Given the description of an element on the screen output the (x, y) to click on. 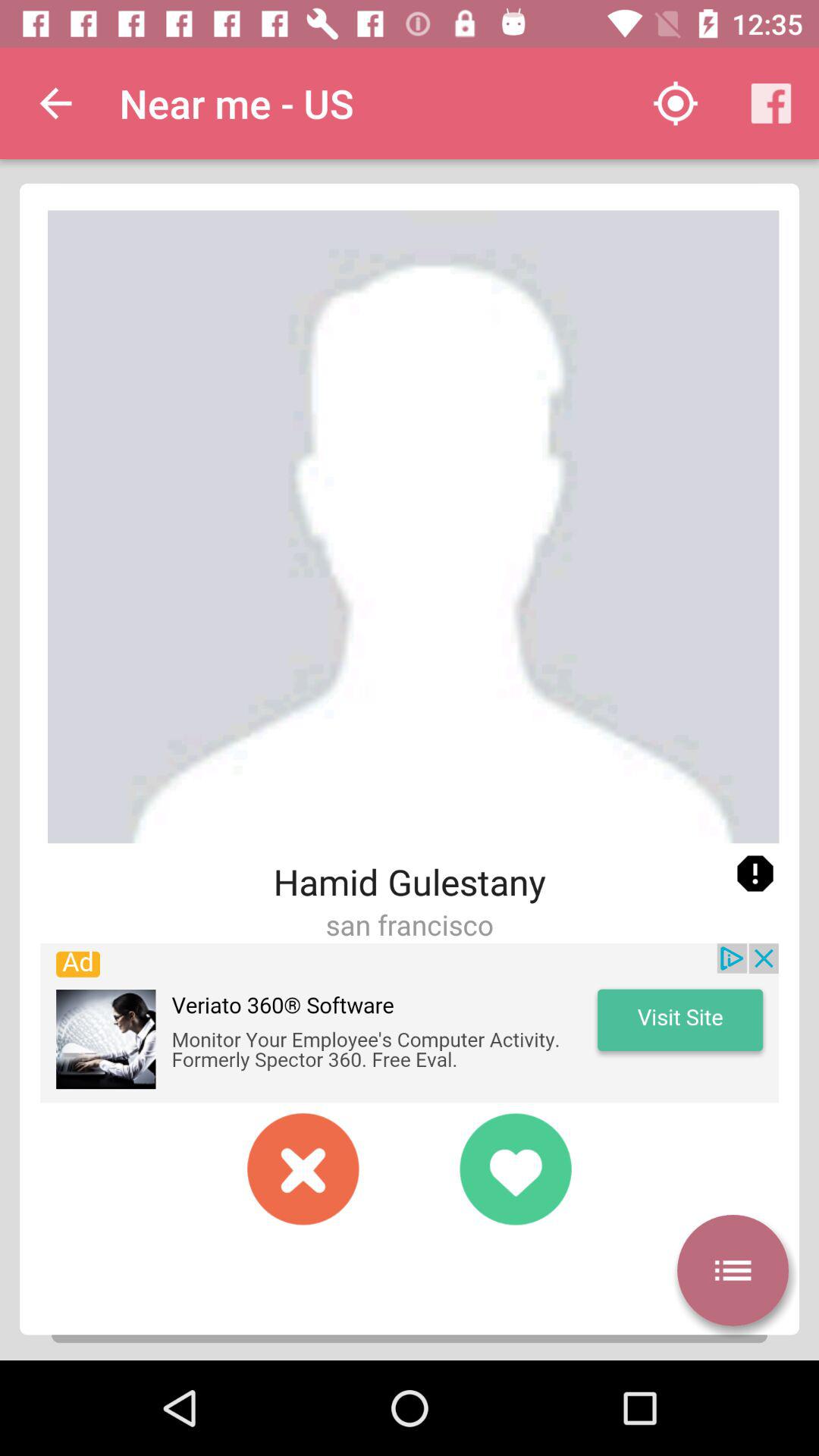
decline (303, 1169)
